Given the description of an element on the screen output the (x, y) to click on. 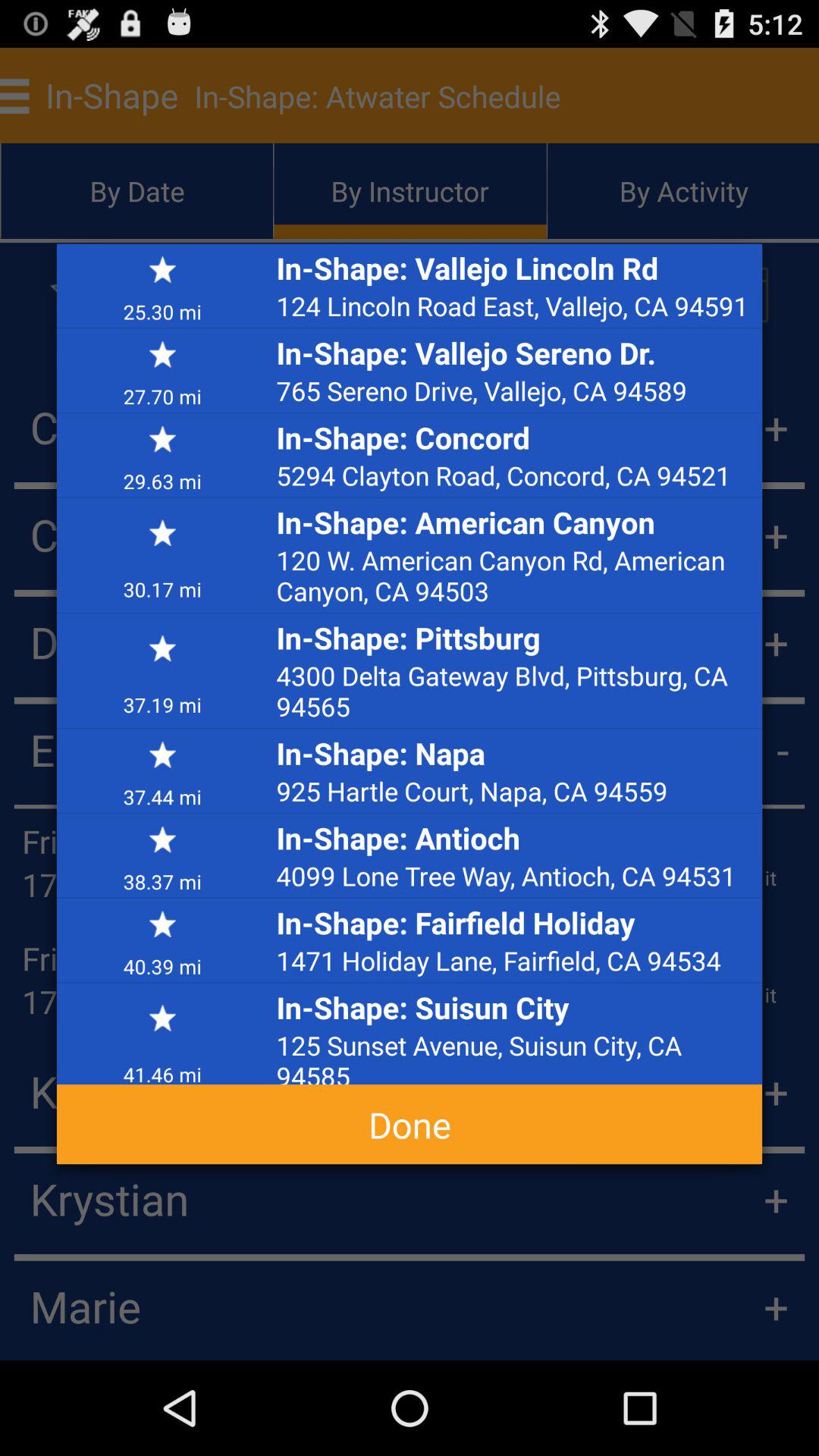
press item above done icon (162, 1068)
